Given the description of an element on the screen output the (x, y) to click on. 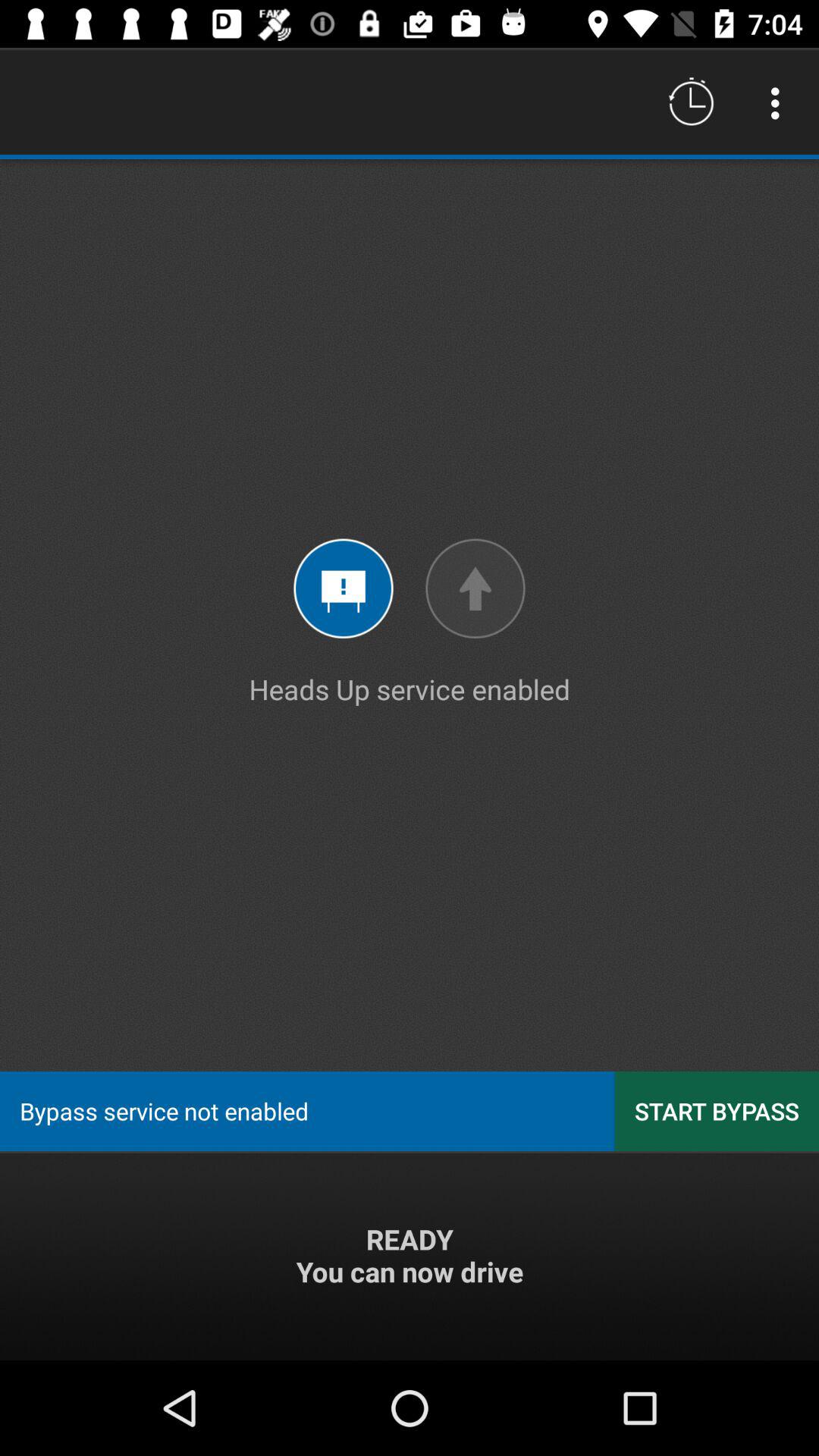
open icon above heads up service icon (779, 103)
